Given the description of an element on the screen output the (x, y) to click on. 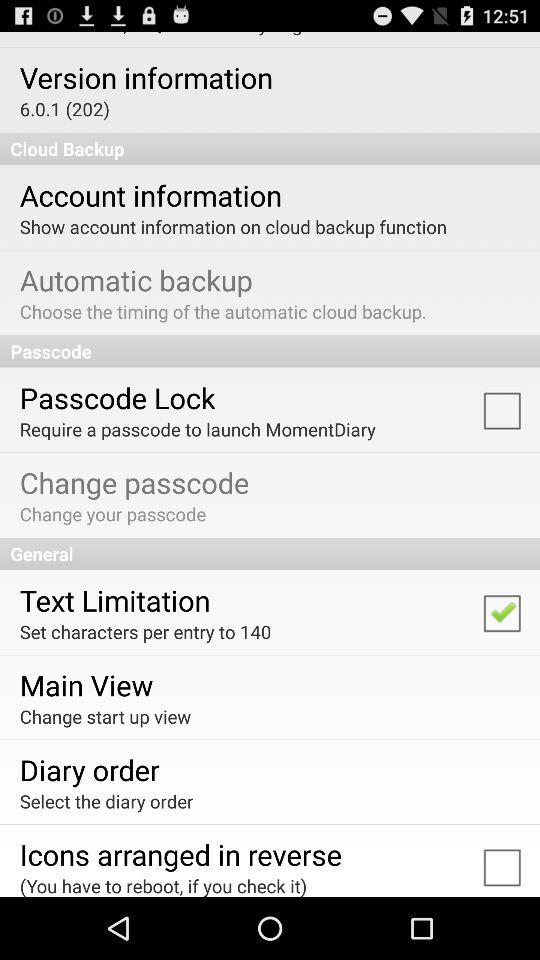
press icon below the version information icon (64, 108)
